Given the description of an element on the screen output the (x, y) to click on. 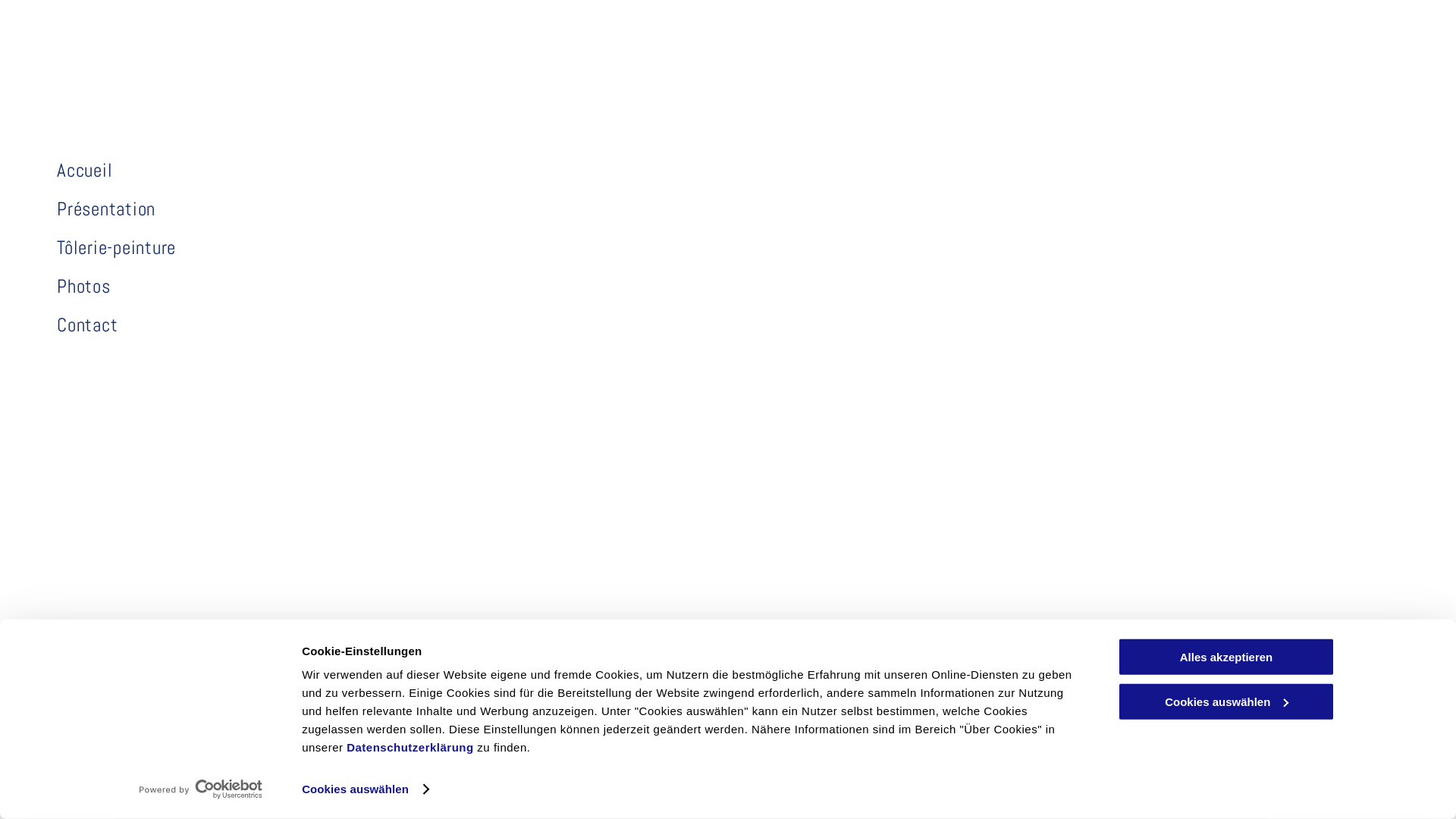
Photos Element type: text (883, 799)
Accueil Element type: text (519, 799)
Contact Element type: text (970, 799)
Photos Element type: text (296, 285)
Accueil Element type: text (296, 169)
Alles akzeptieren Element type: text (1225, 656)
Contact Element type: text (296, 324)
